Given the description of an element on the screen output the (x, y) to click on. 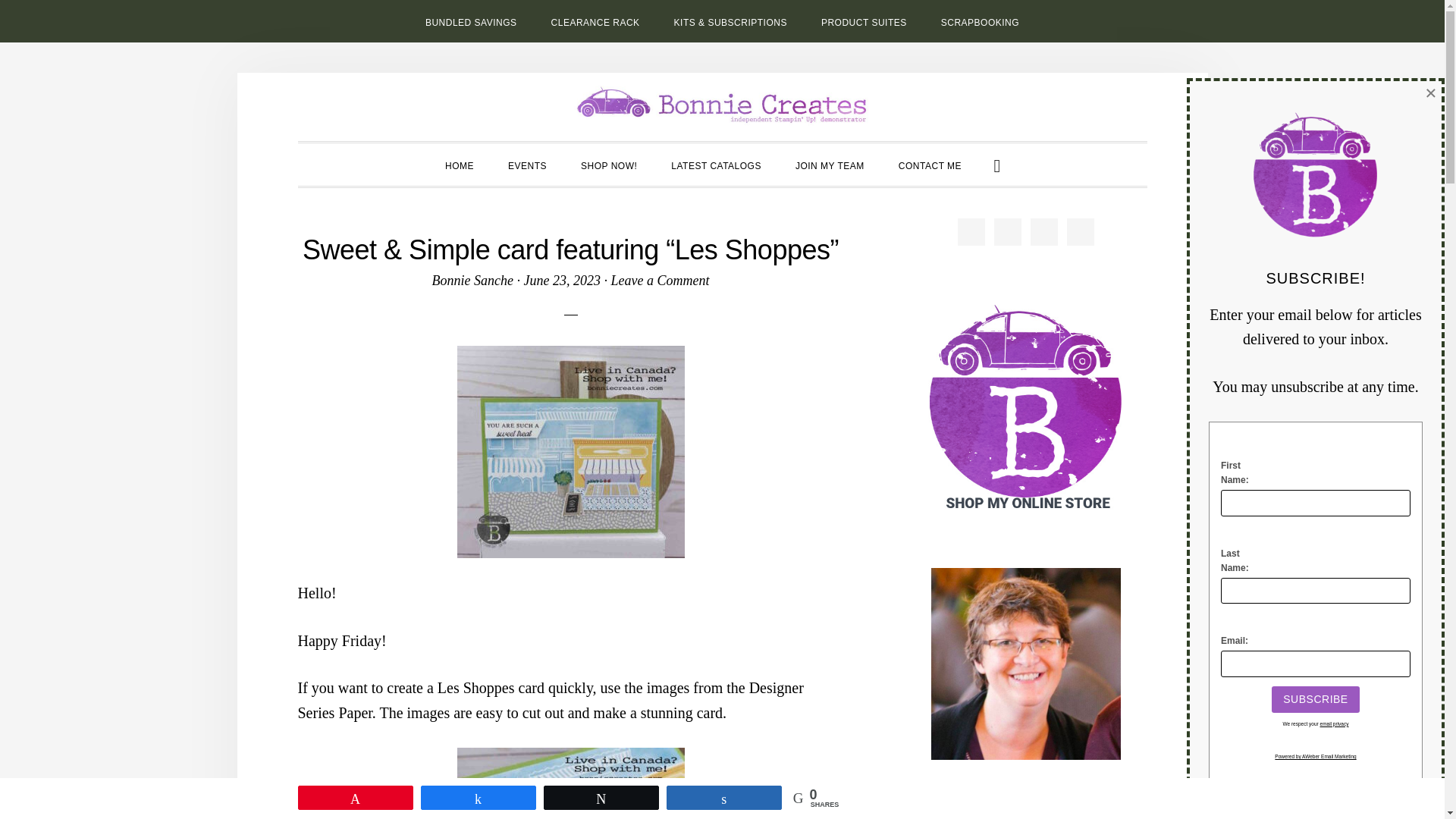
CLEARANCE RACK (595, 21)
LATEST CATALOGS (716, 164)
SHOP NOW! (609, 164)
EVENTS (527, 164)
JOIN MY TEAM (829, 164)
Subscribe (1314, 699)
BUNDLED SAVINGS (471, 21)
SCRAPBOOKING (979, 21)
Bonnie Sanche (472, 280)
BONNIE SANCHE - STAMPIN' UP! DEMONSTRATOR (721, 102)
Leave a Comment (659, 280)
PRODUCT SUITES (863, 21)
CONTACT ME (929, 164)
HOME (459, 164)
